Given the description of an element on the screen output the (x, y) to click on. 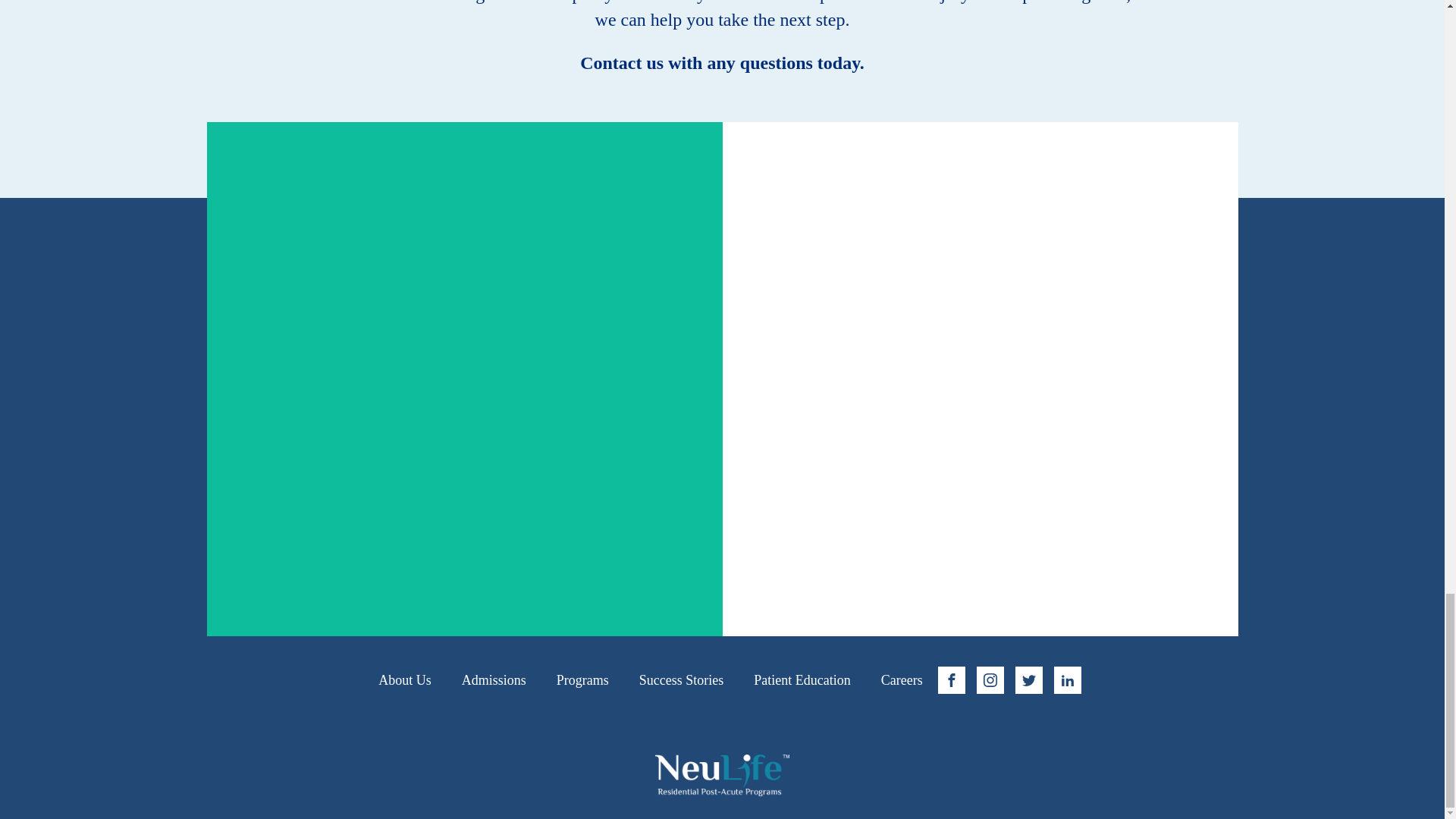
About Us (404, 680)
Admissions (493, 680)
Patient Education (801, 680)
Success Stories (681, 680)
Programs (582, 680)
